Given the description of an element on the screen output the (x, y) to click on. 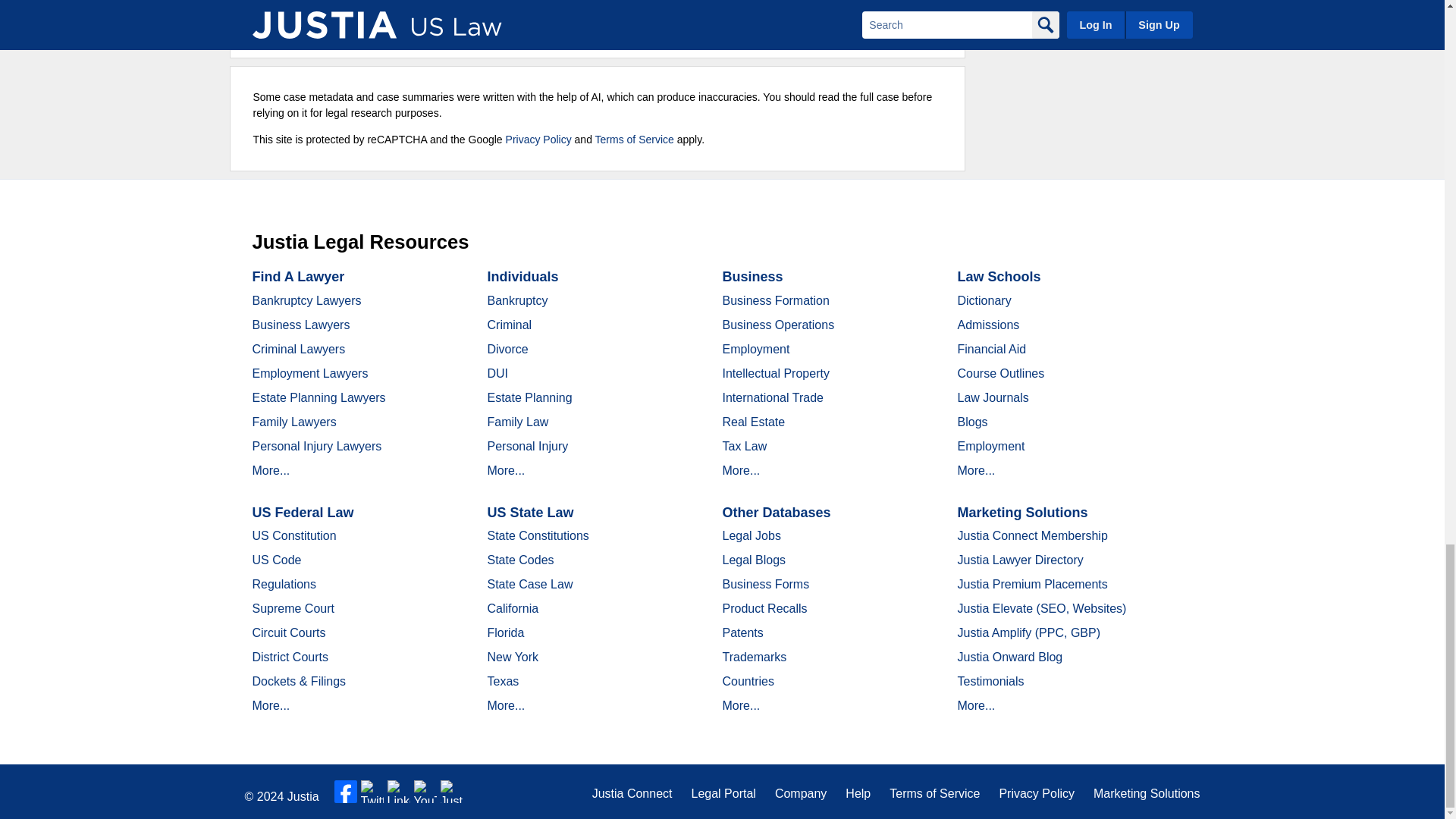
Twitter (372, 791)
LinkedIn (398, 791)
Facebook (345, 791)
Terms of Service (634, 139)
Privacy Policy (538, 139)
